Given the description of an element on the screen output the (x, y) to click on. 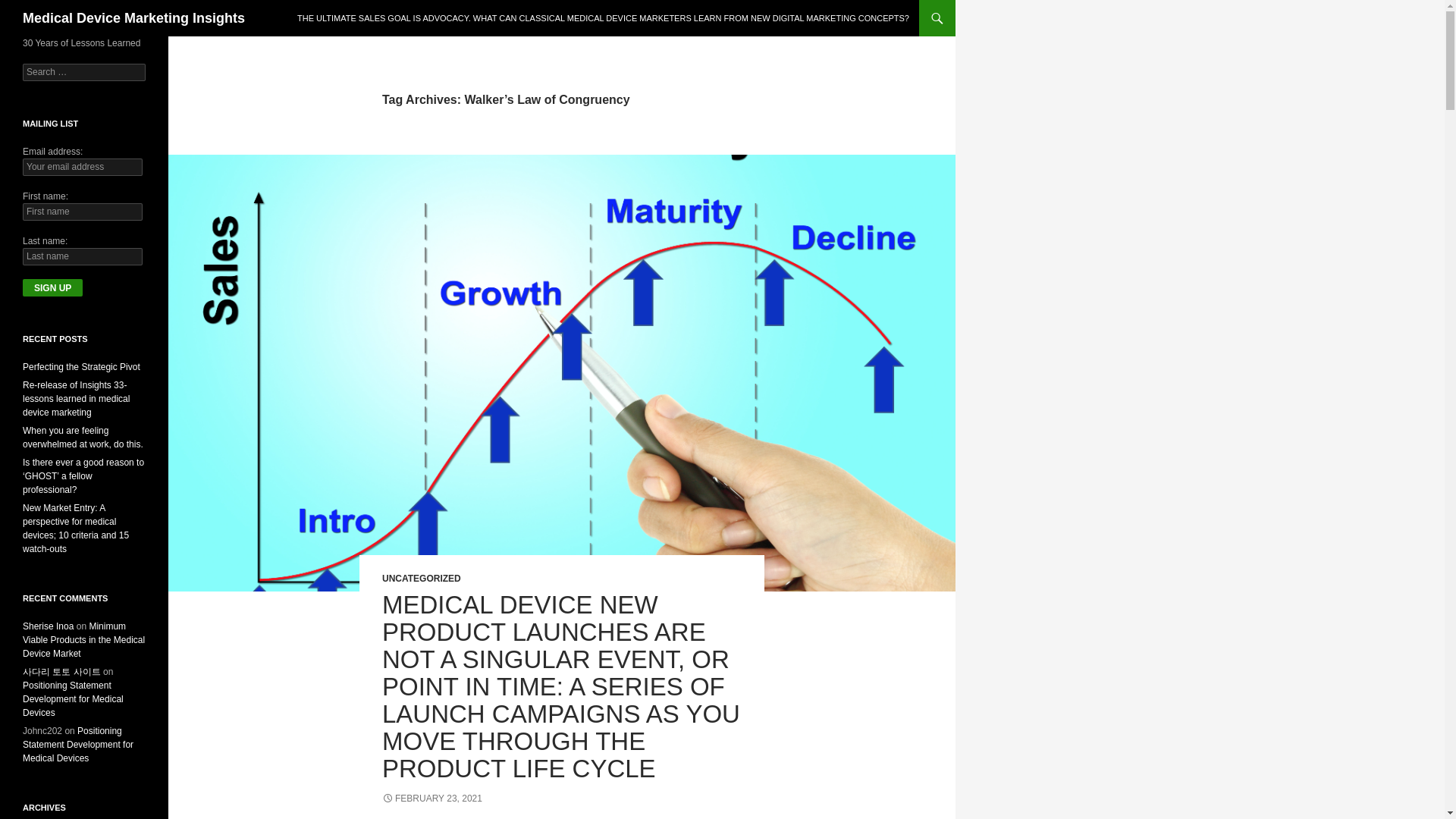
Sign up (52, 287)
Search (30, 8)
FEBRUARY 23, 2021 (431, 798)
Medical Device Marketing Insights (133, 18)
Perfecting the Strategic Pivot (81, 366)
Sign up (52, 287)
UNCATEGORIZED (421, 578)
